Given the description of an element on the screen output the (x, y) to click on. 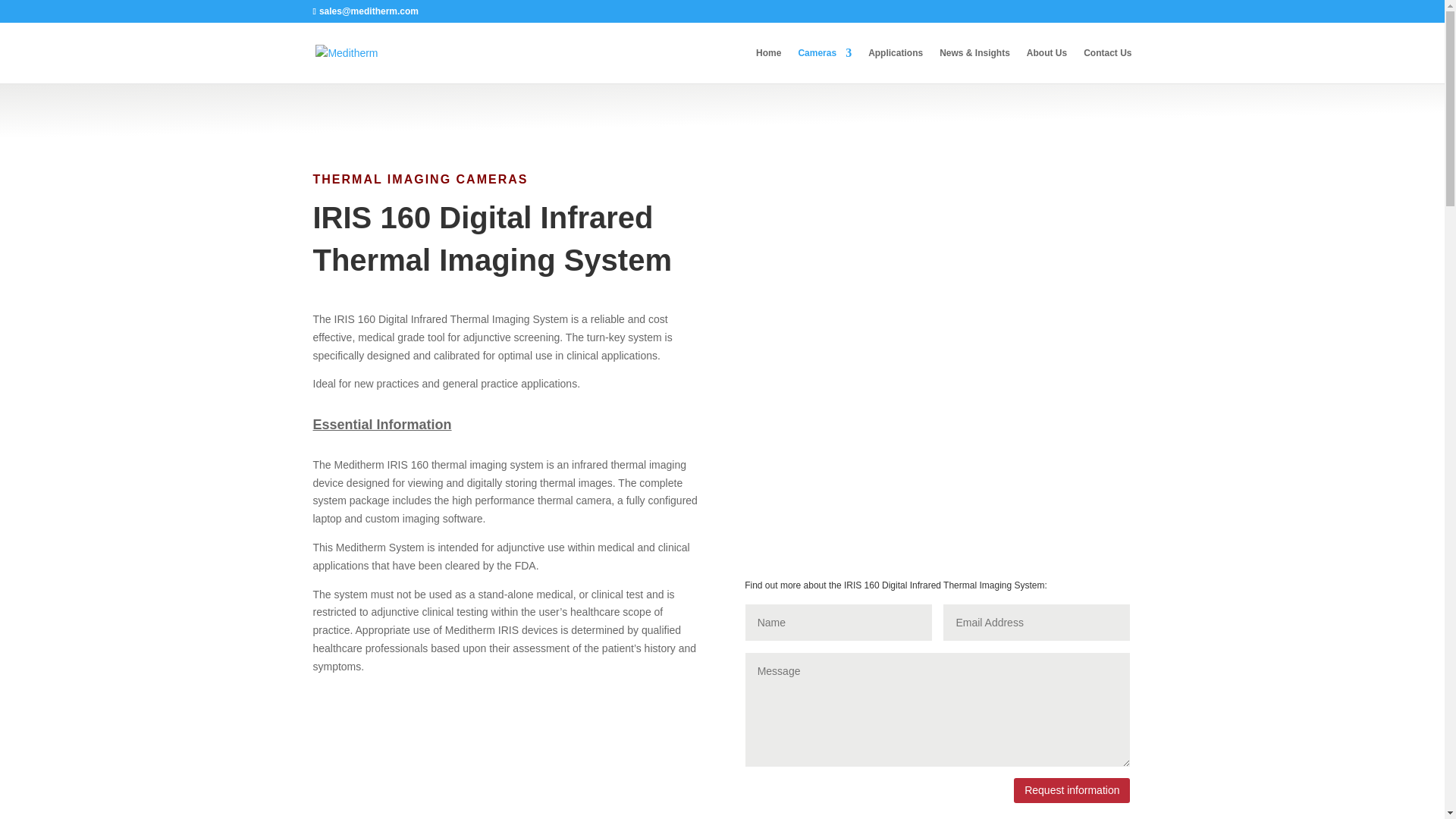
About Us (1046, 65)
Cameras (824, 65)
Request information (1071, 790)
Contact Us (1107, 65)
Applications (895, 65)
